Given the description of an element on the screen output the (x, y) to click on. 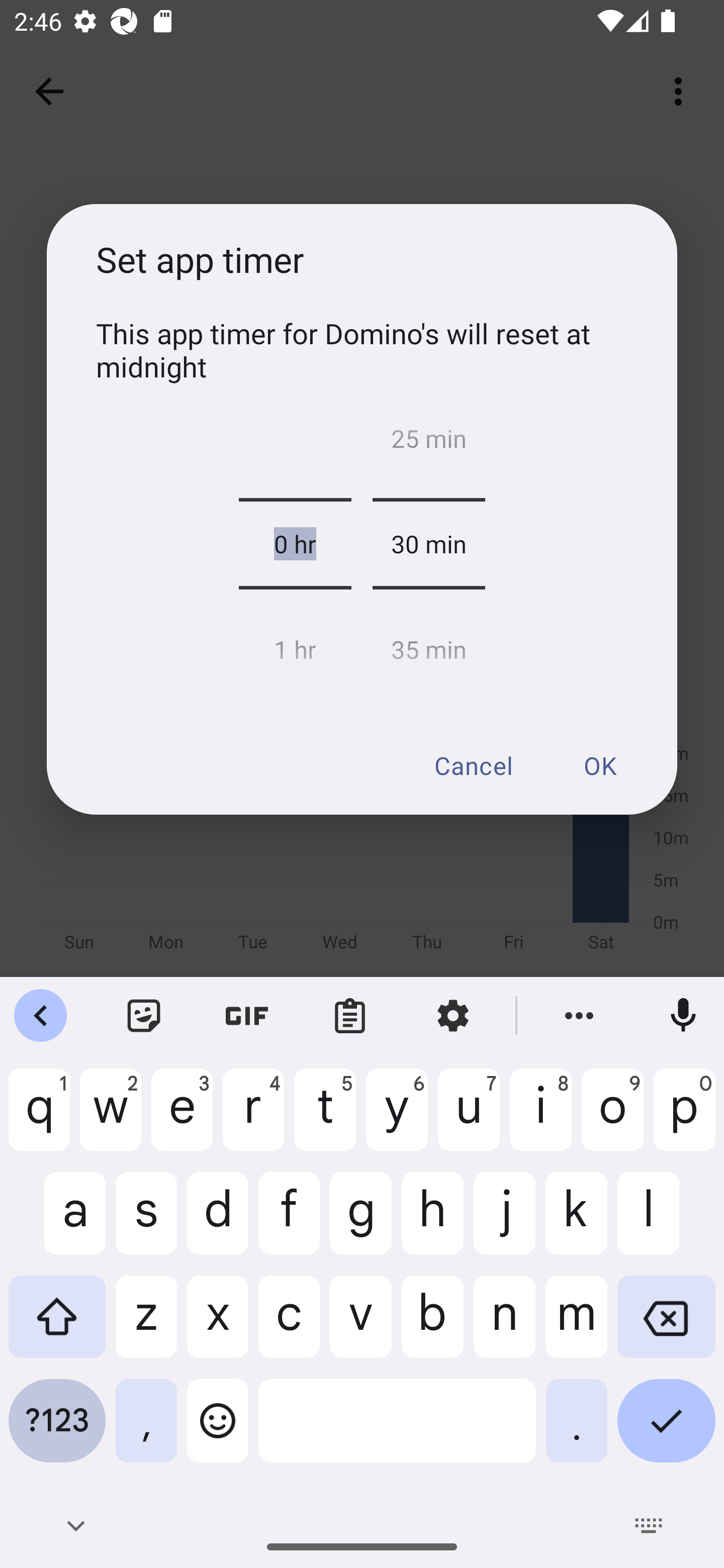
25 min (428, 443)
0 hr (294, 543)
30 min (428, 543)
1 hr (294, 644)
35 min (428, 644)
Cancel (473, 764)
OK (599, 764)
